Given the description of an element on the screen output the (x, y) to click on. 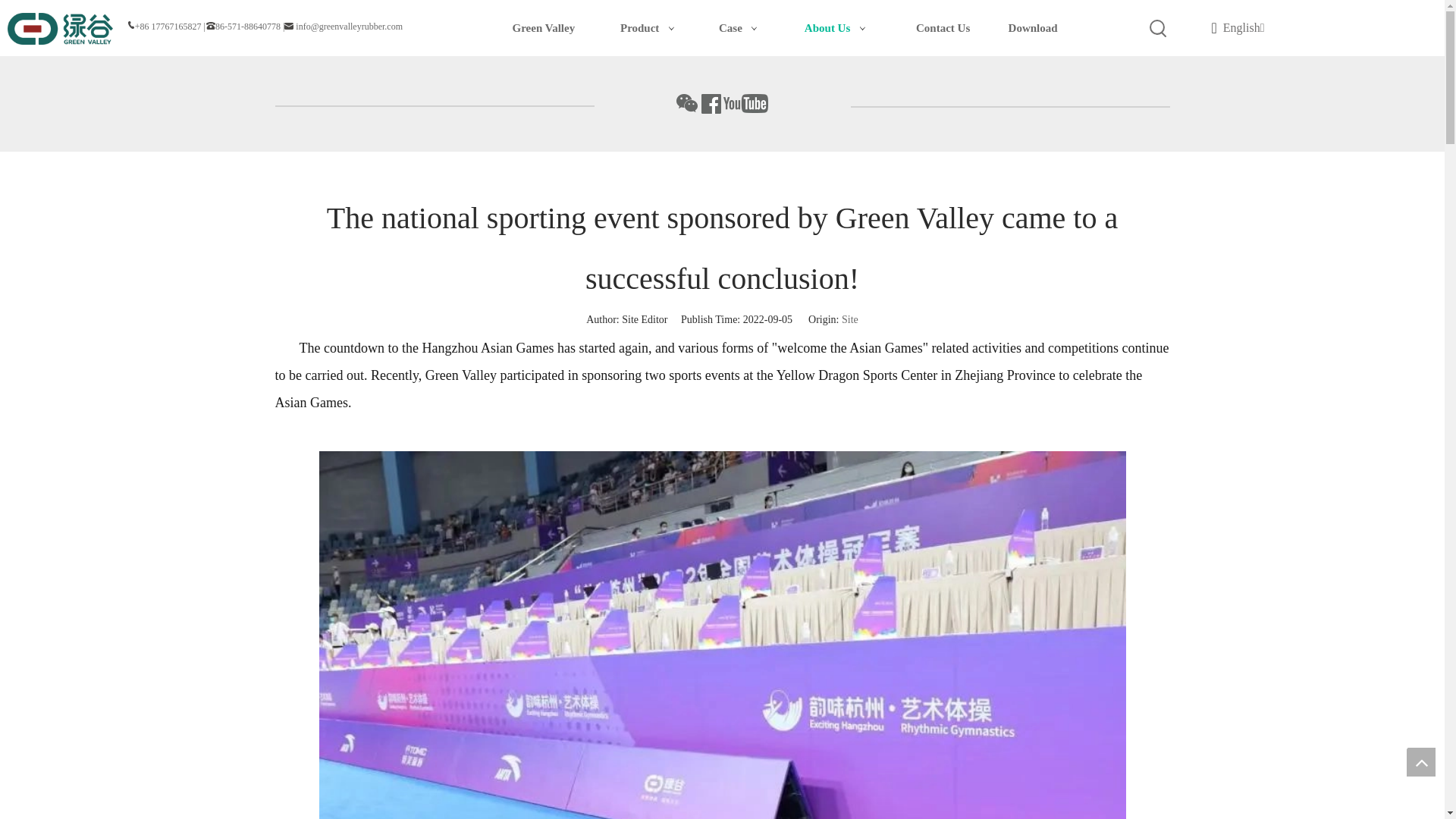
Download (1032, 28)
About Us   (836, 28)
Green Valley (543, 28)
Case   (739, 28)
youtube (745, 103)
Contact Us (943, 28)
wechat (687, 103)
Product   (650, 28)
facebook (710, 103)
Phone (210, 25)
